Given the description of an element on the screen output the (x, y) to click on. 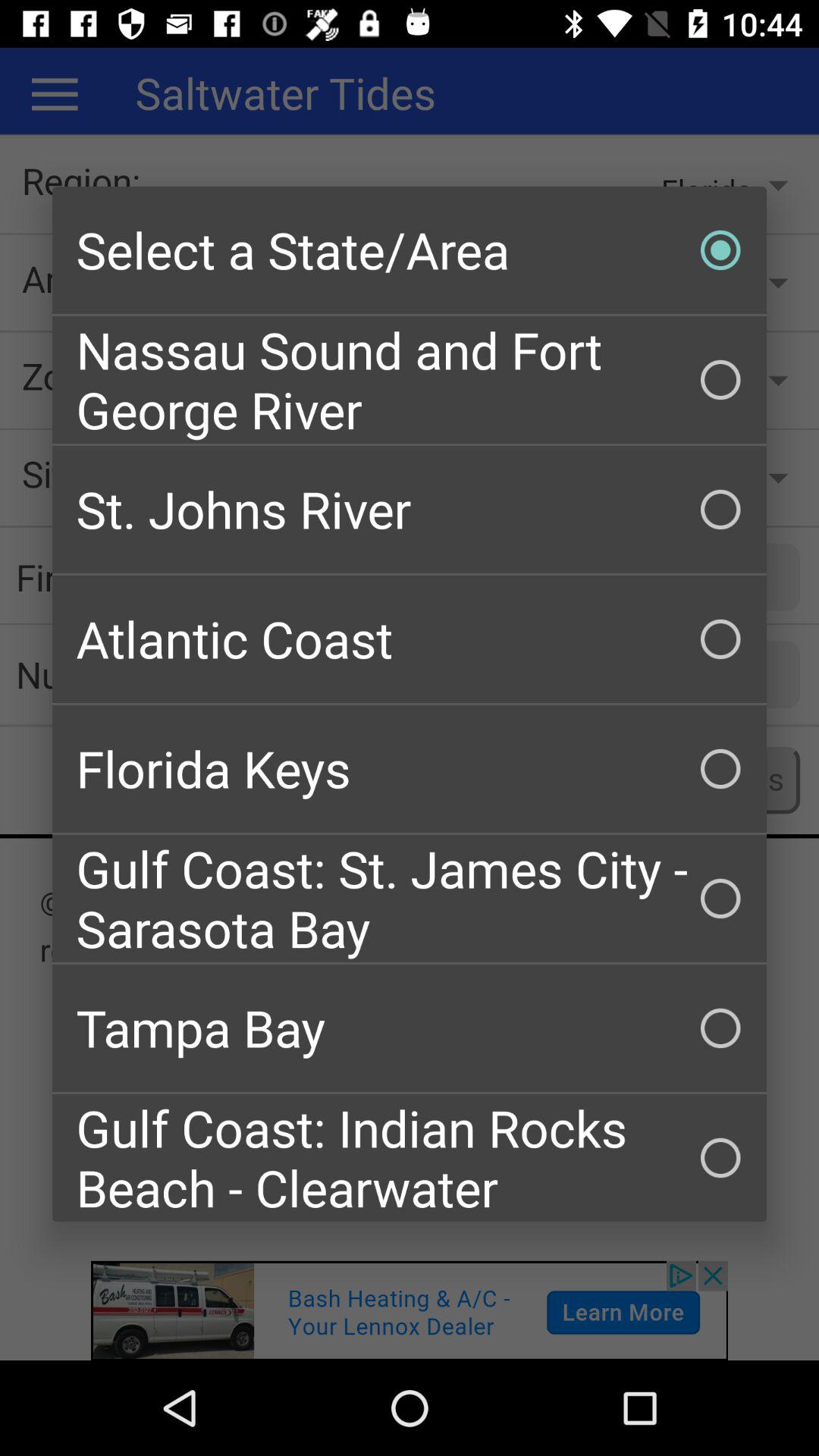
click nassau sound and item (409, 379)
